Given the description of an element on the screen output the (x, y) to click on. 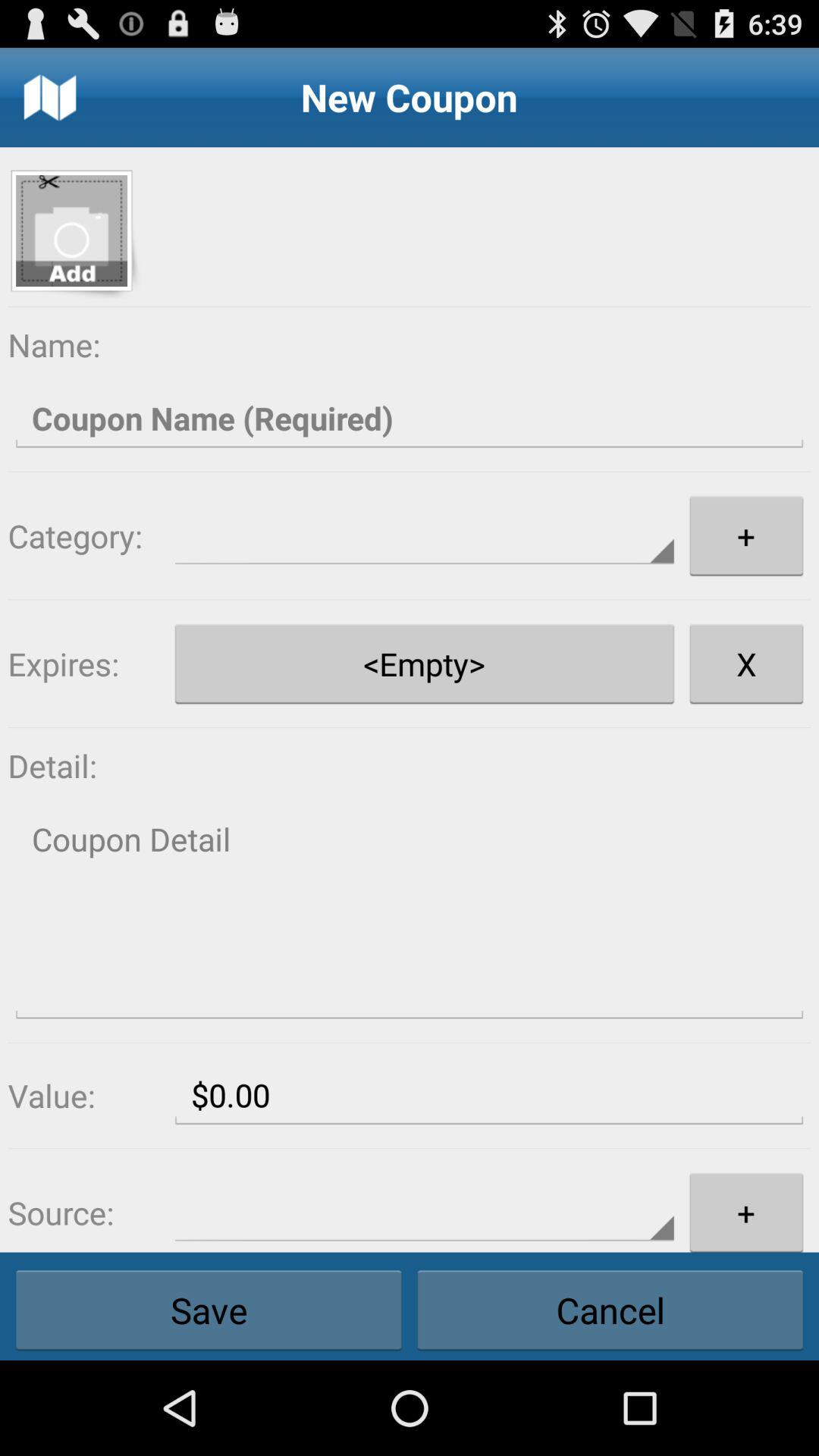
detailed rules of item (409, 914)
